Given the description of an element on the screen output the (x, y) to click on. 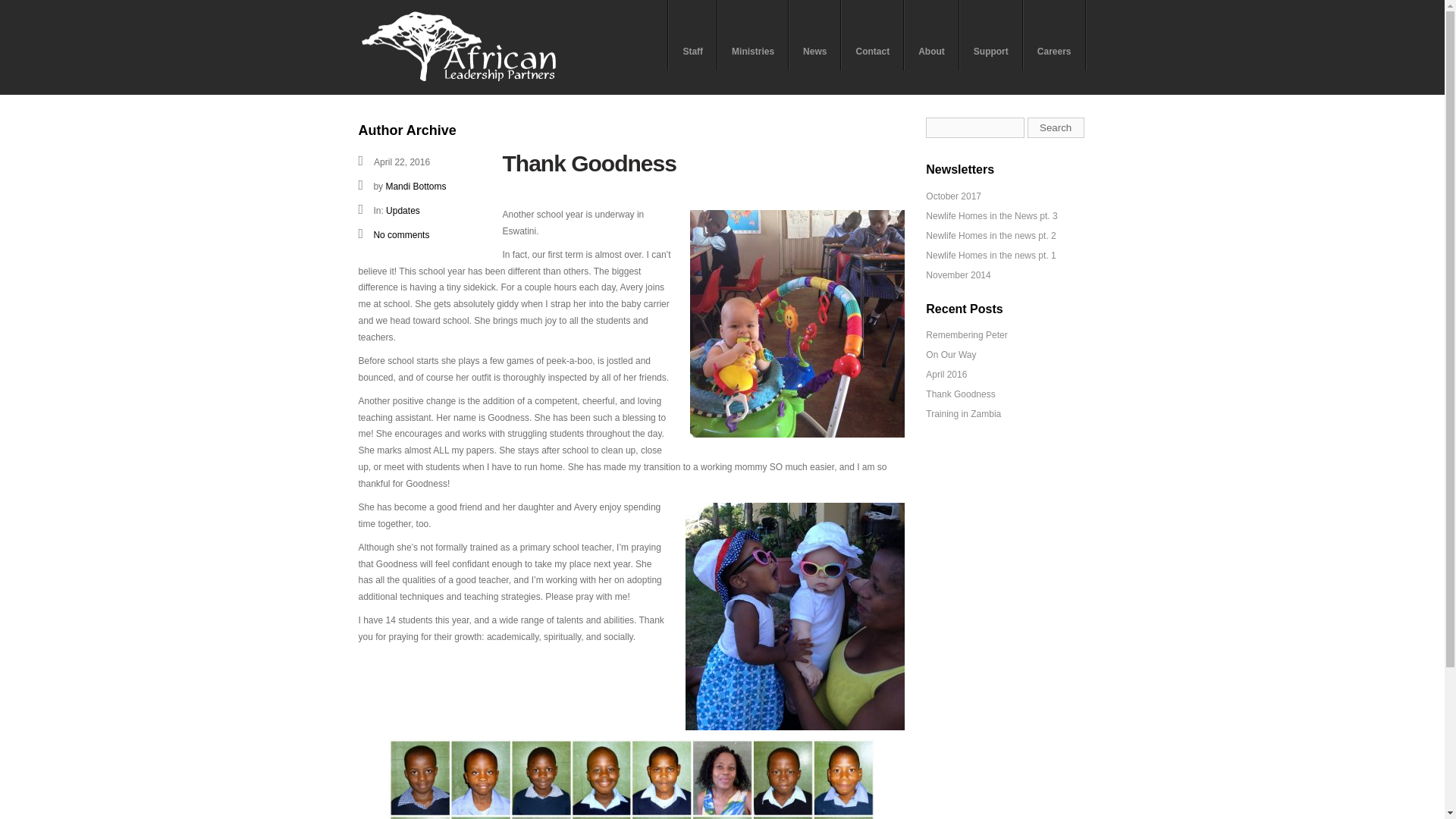
April 2016 (946, 374)
Thank Goodness (960, 394)
Thank Goodness (588, 163)
Contact (872, 35)
Newlife Homes in the news pt. 1 (990, 255)
Newlife Homes in the News pt. 3 (991, 215)
Careers (1054, 35)
November 2014 (958, 275)
Ministries (753, 35)
Search (1055, 127)
Newlife Homes in the news pt. 2 (990, 235)
October 2017 (953, 195)
Mandi Bottoms (415, 185)
African Leadership Partners (458, 80)
Posts by Mandi Bottoms (415, 185)
